Given the description of an element on the screen output the (x, y) to click on. 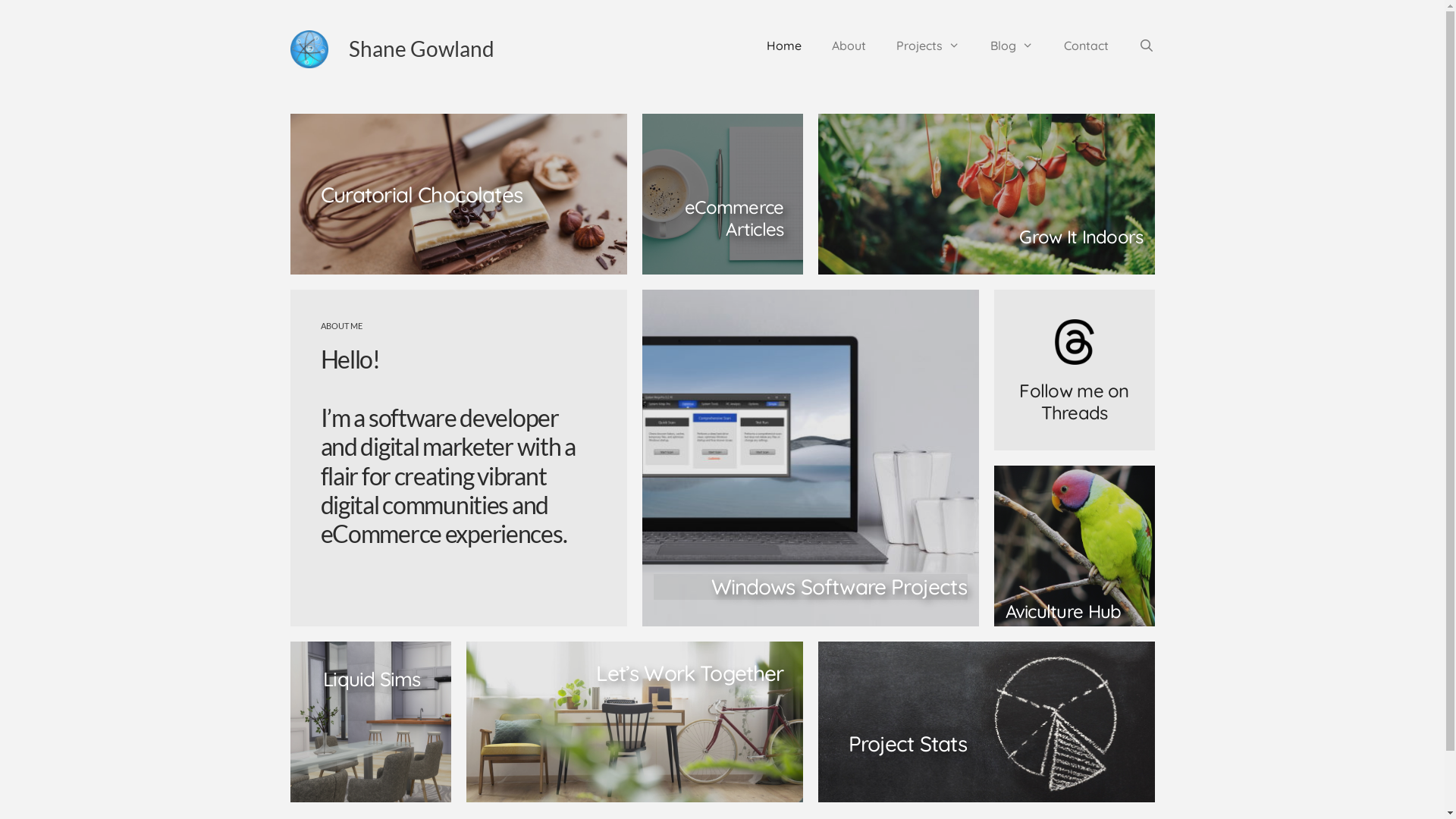
Contact Element type: text (1085, 45)
Projects Element type: text (928, 45)
Blog Element type: text (1011, 45)
Shane Gowland Element type: text (421, 48)
threads Element type: hover (1073, 341)
Home Element type: text (783, 45)
About Element type: text (848, 45)
